Given the description of an element on the screen output the (x, y) to click on. 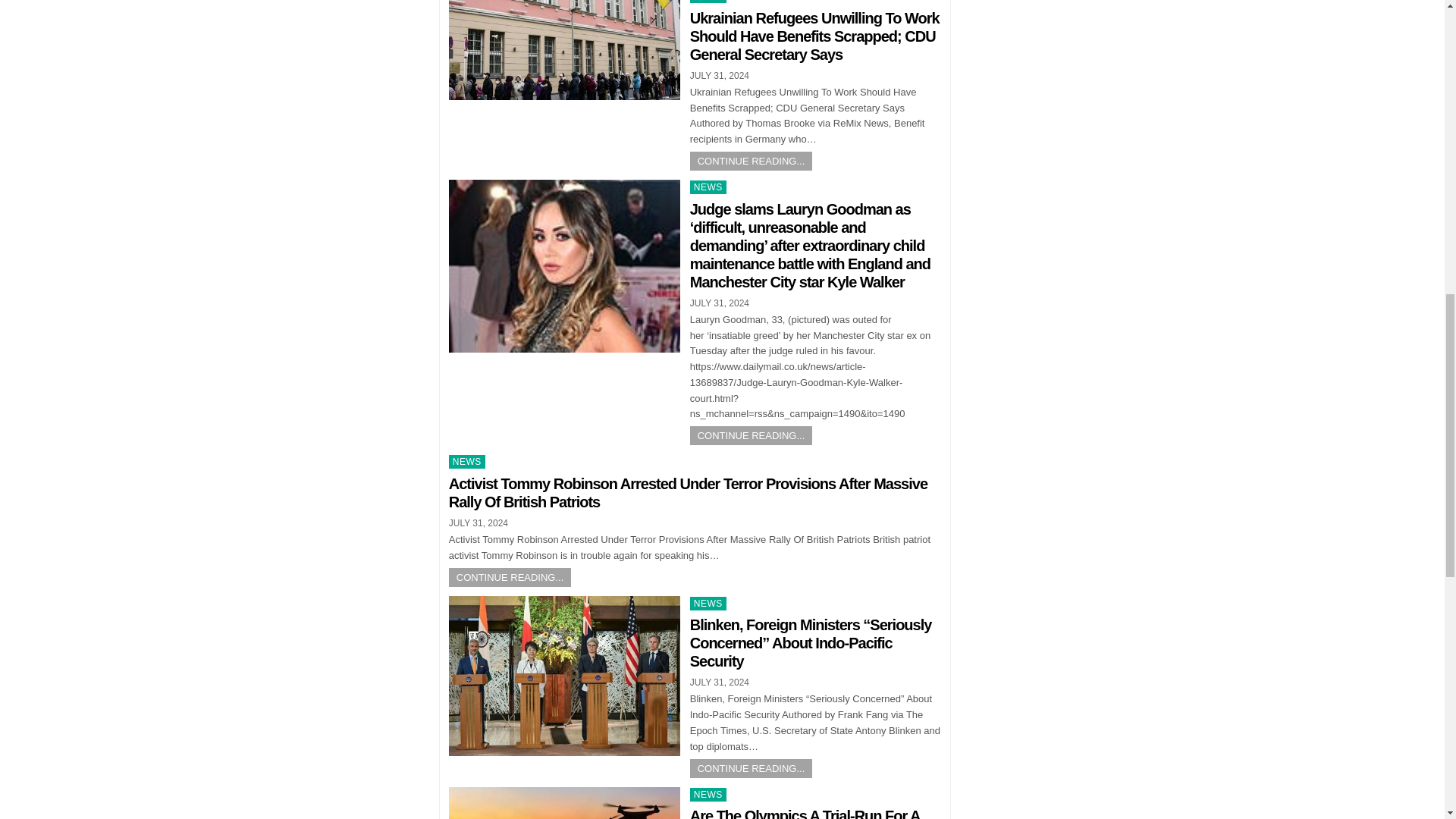
NEWS (708, 1)
NEWS (708, 794)
NEWS (466, 461)
CONTINUE READING... (510, 577)
CONTINUE READING... (751, 768)
NEWS (708, 603)
CONTINUE READING... (751, 160)
CONTINUE READING... (751, 435)
Are The Olympics A Trial-Run For A 1984-Style Digital-State? (805, 813)
NEWS (708, 187)
